Given the description of an element on the screen output the (x, y) to click on. 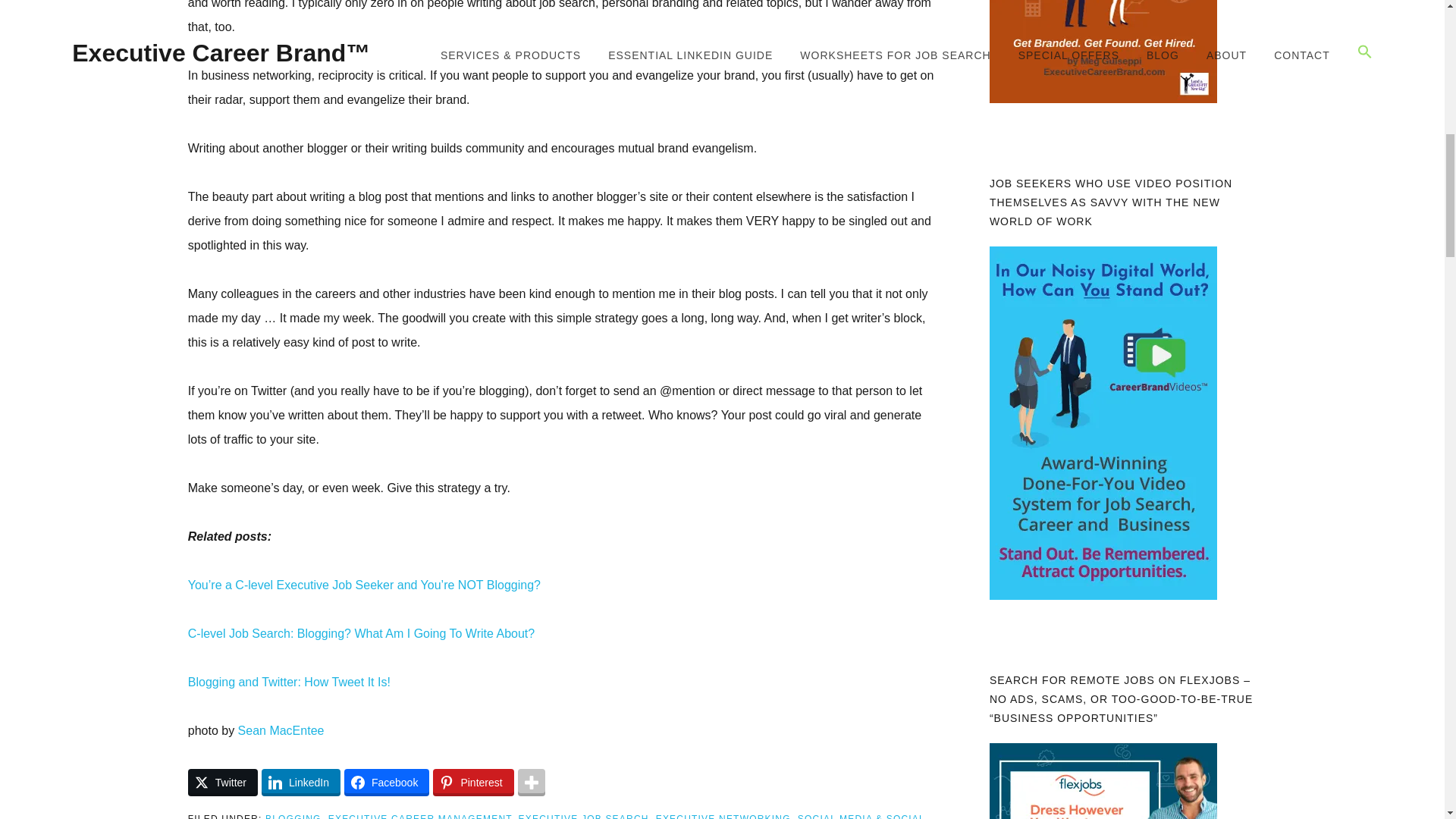
Share on Pinterest (472, 782)
Share on Facebook (386, 782)
Sean MacEntee (281, 730)
Share on LinkedIn (301, 782)
Blogging and Twitter: How Tweet It Is! (288, 681)
Share on Twitter (222, 782)
